Given the description of an element on the screen output the (x, y) to click on. 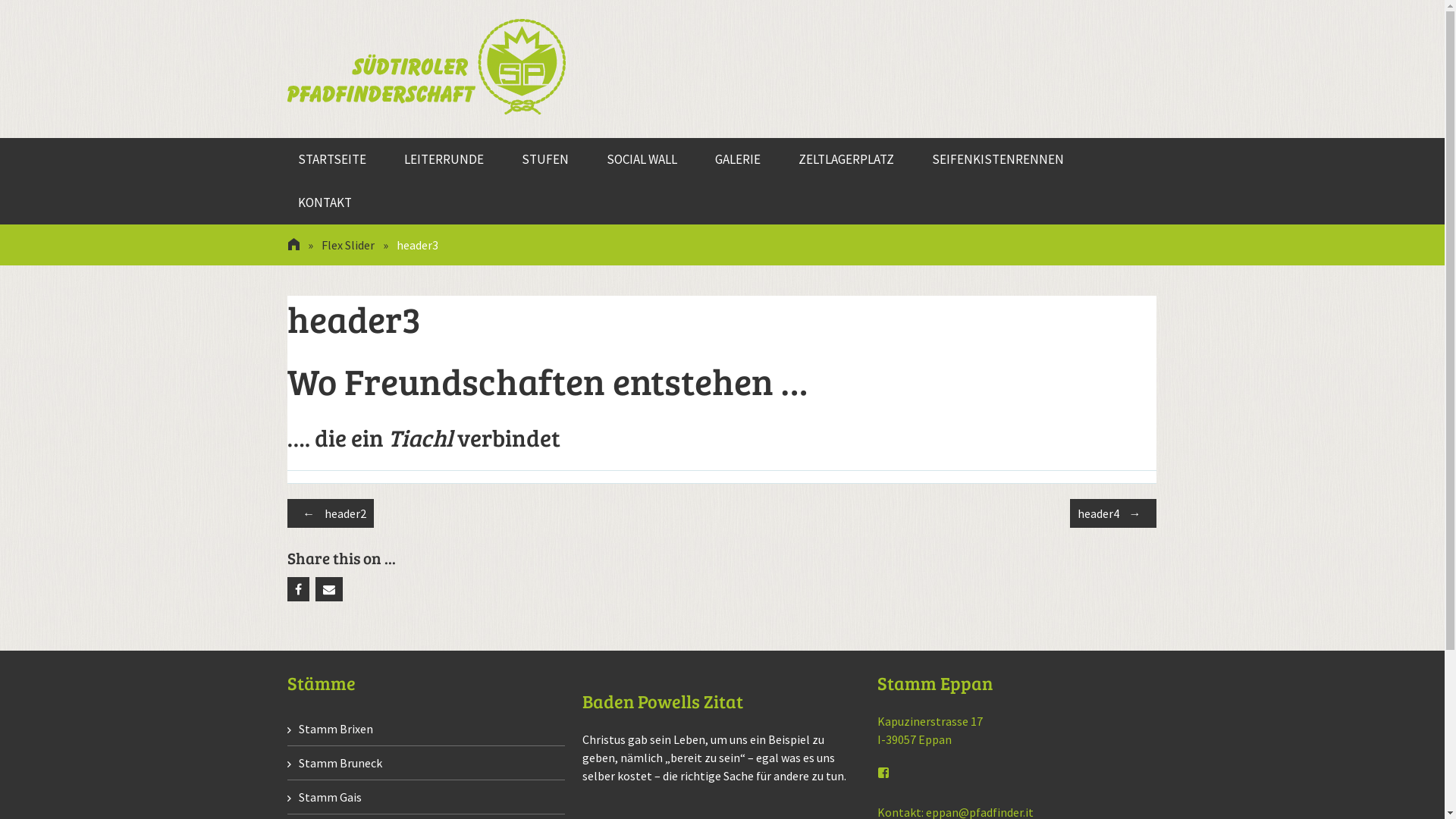
SEIFENKISTENRENNEN Element type: text (997, 159)
LEITERRUNDE Element type: text (443, 159)
KONTAKT Element type: text (324, 202)
Stamm Bruneck Element type: text (334, 762)
Stamm Brixen Element type: text (330, 728)
SOCIAL WALL Element type: text (640, 159)
Flex Slider Element type: text (347, 244)
ZELTLAGERPLATZ Element type: text (846, 159)
GALERIE Element type: text (737, 159)
STUFEN Element type: text (544, 159)
STARTSEITE Element type: text (332, 159)
Skip to content Element type: text (296, 137)
Stamm Gais Element type: text (324, 796)
Kapuzinerstrasse 17
I-39057 Eppan Element type: text (929, 729)
